Given the description of an element on the screen output the (x, y) to click on. 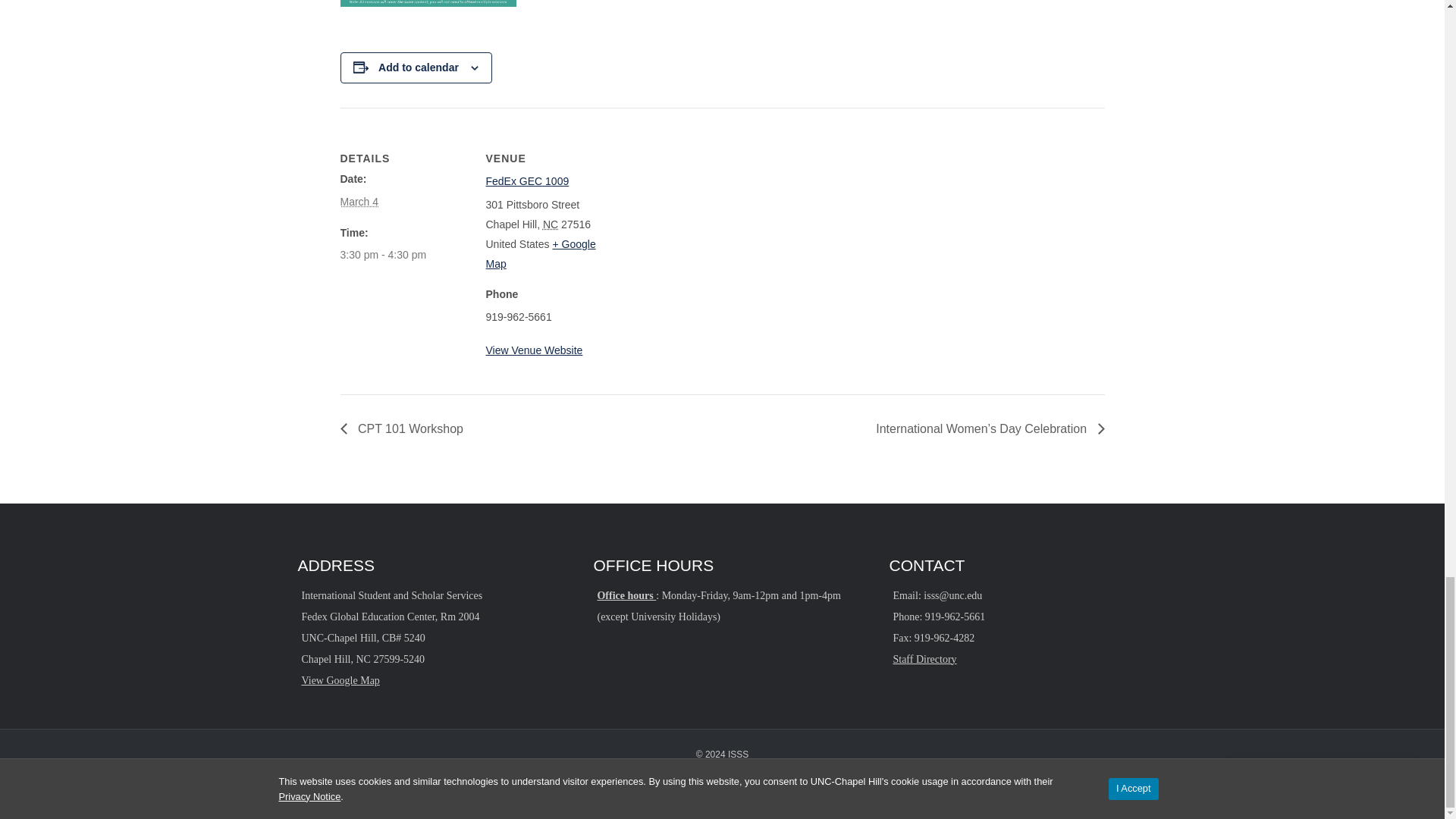
North Carolina (550, 224)
Click to view a Google Map (539, 254)
Google maps iframe displaying the address to FedEx GEC 1009 (710, 212)
2024-03-04 (358, 201)
2024-03-04 (382, 254)
